Given the description of an element on the screen output the (x, y) to click on. 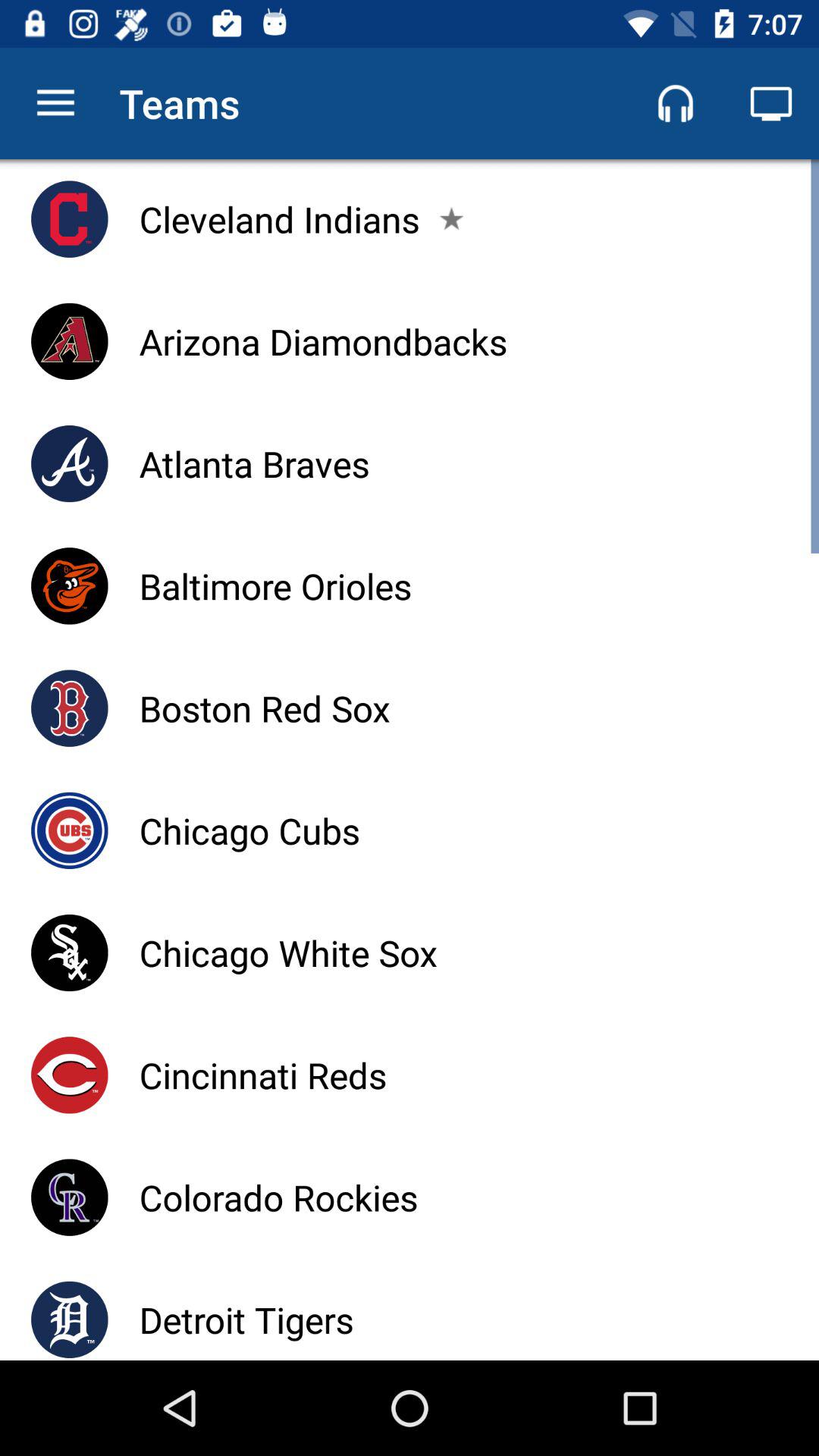
swipe to boston red sox item (264, 708)
